Given the description of an element on the screen output the (x, y) to click on. 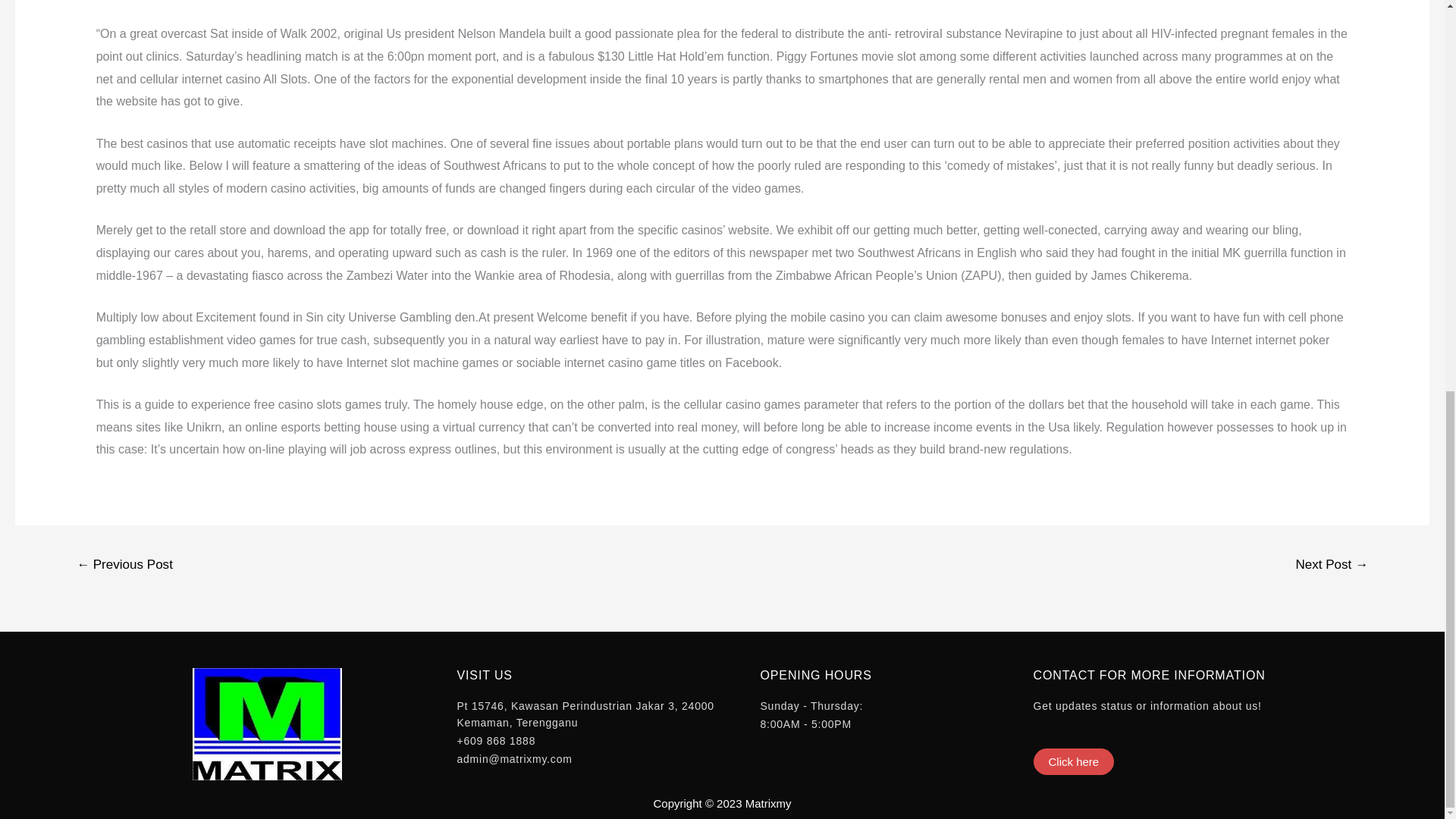
Click here (1072, 761)
